Given the description of an element on the screen output the (x, y) to click on. 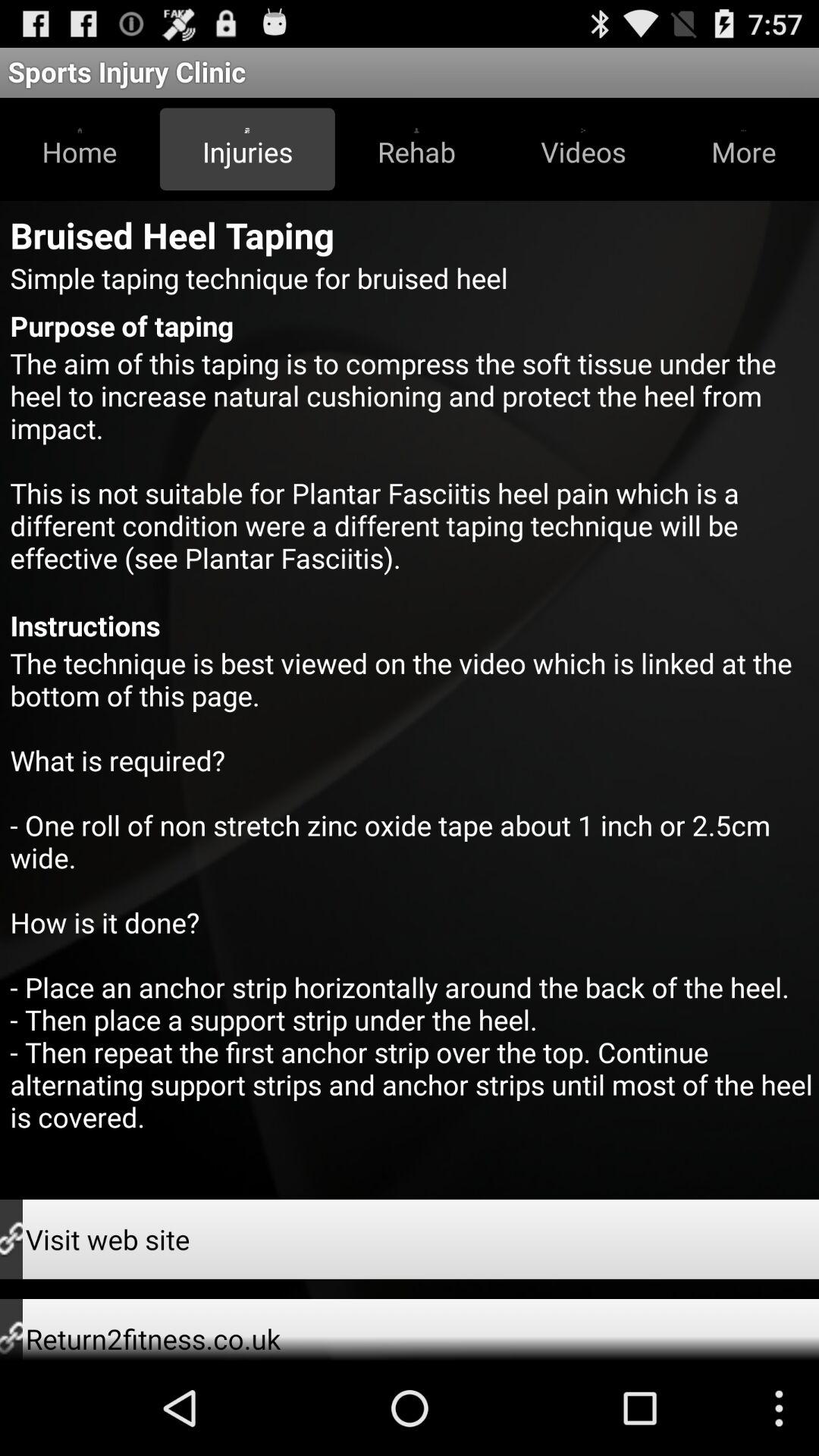
flip until the rehab (416, 149)
